Given the description of an element on the screen output the (x, y) to click on. 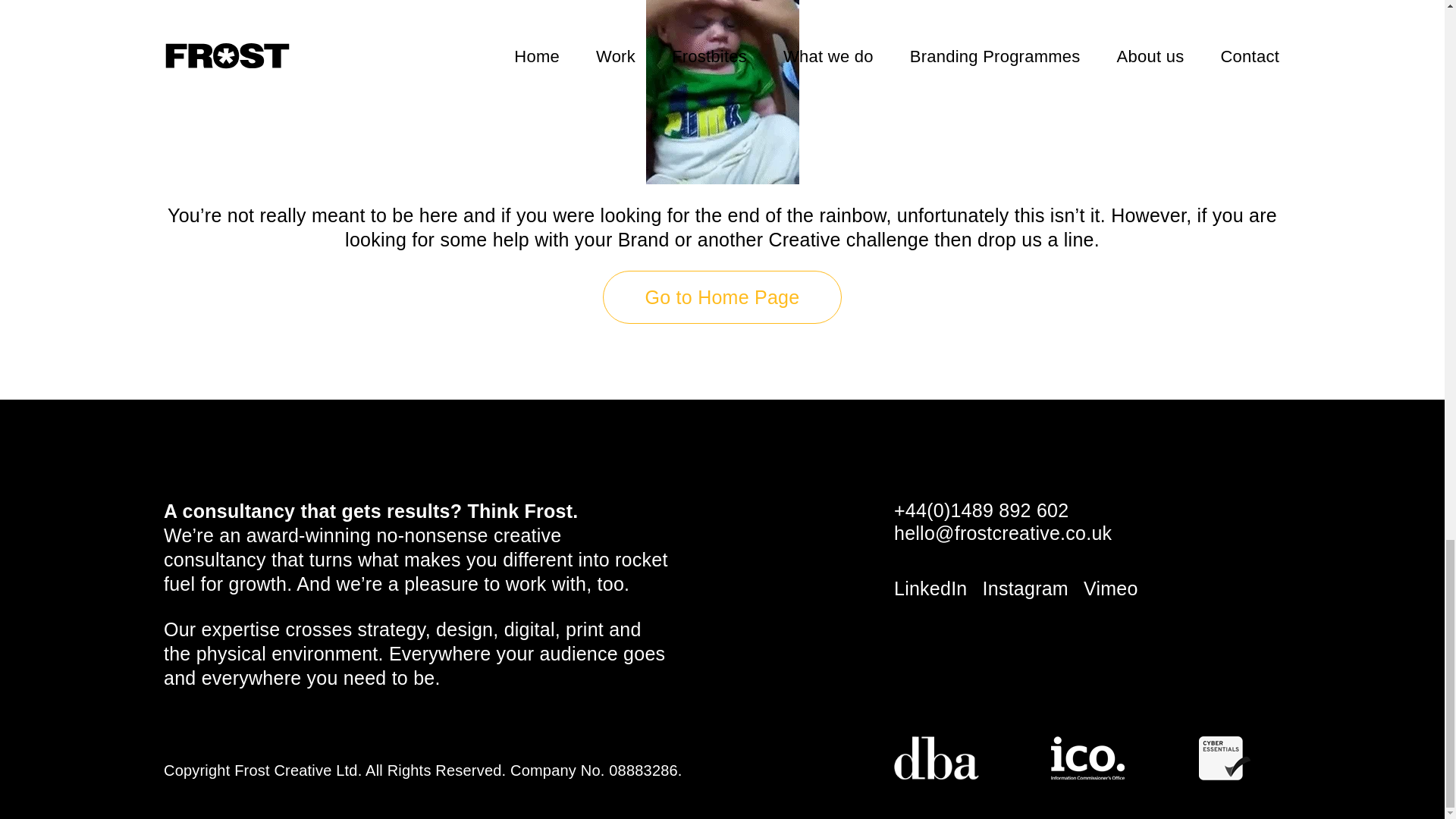
Vimeo (1110, 588)
Instagram (1025, 588)
digital, print and the physical environment. (402, 641)
Go to Home Page (722, 297)
design, (466, 629)
LinkedIn (930, 588)
strategy, (394, 629)
